Given the description of an element on the screen output the (x, y) to click on. 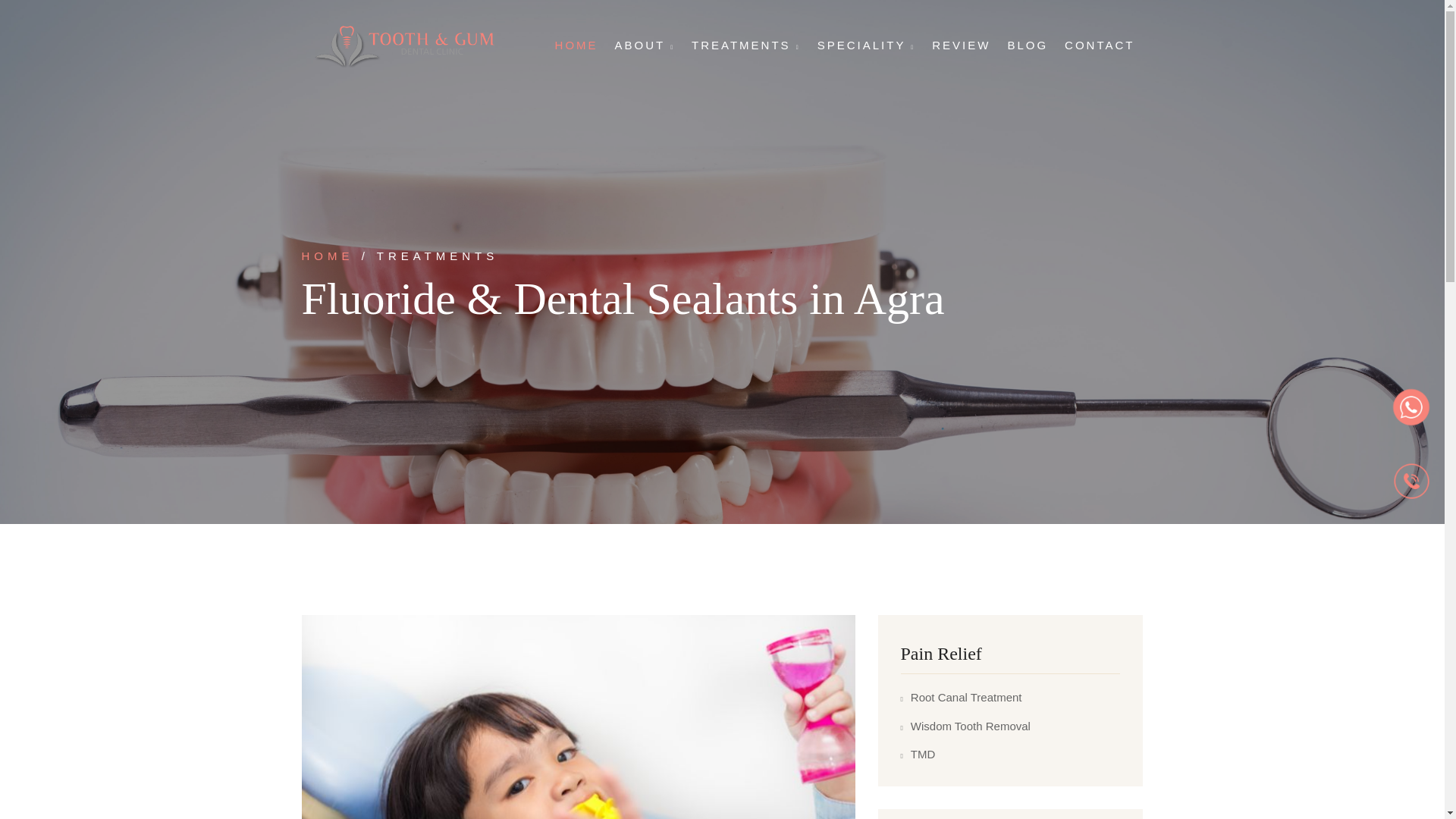
HOME (576, 45)
HOME (327, 256)
CONTACT (1099, 45)
TMD (918, 754)
dental clinic in agra (404, 45)
Wisdom Tooth Removal (965, 726)
REVIEW (960, 45)
Root Canal Treatment (961, 697)
BLOG (1027, 45)
